Given the description of an element on the screen output the (x, y) to click on. 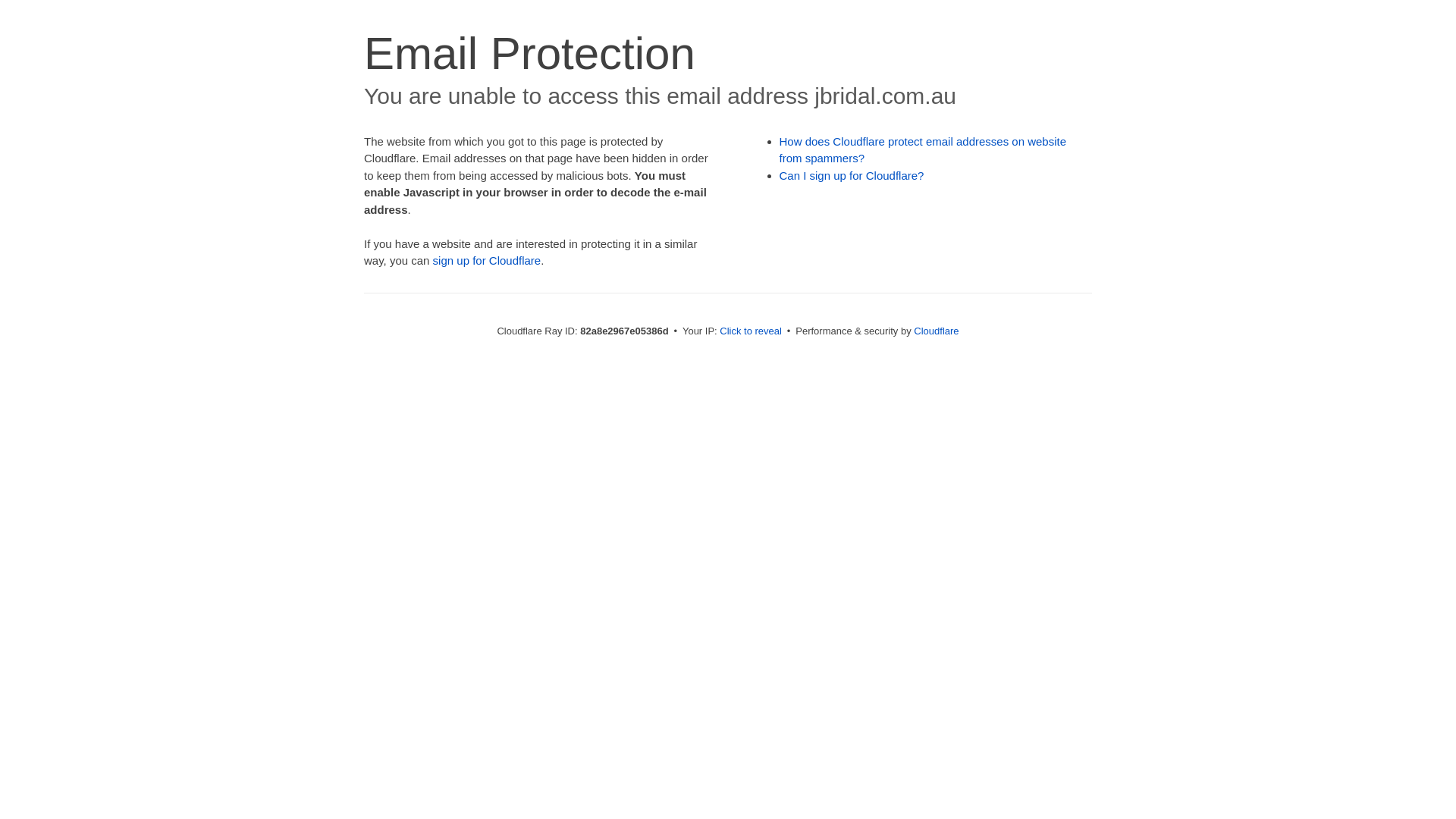
Click to reveal Element type: text (750, 330)
Cloudflare Element type: text (935, 330)
Can I sign up for Cloudflare? Element type: text (851, 175)
sign up for Cloudflare Element type: text (487, 260)
